Given the description of an element on the screen output the (x, y) to click on. 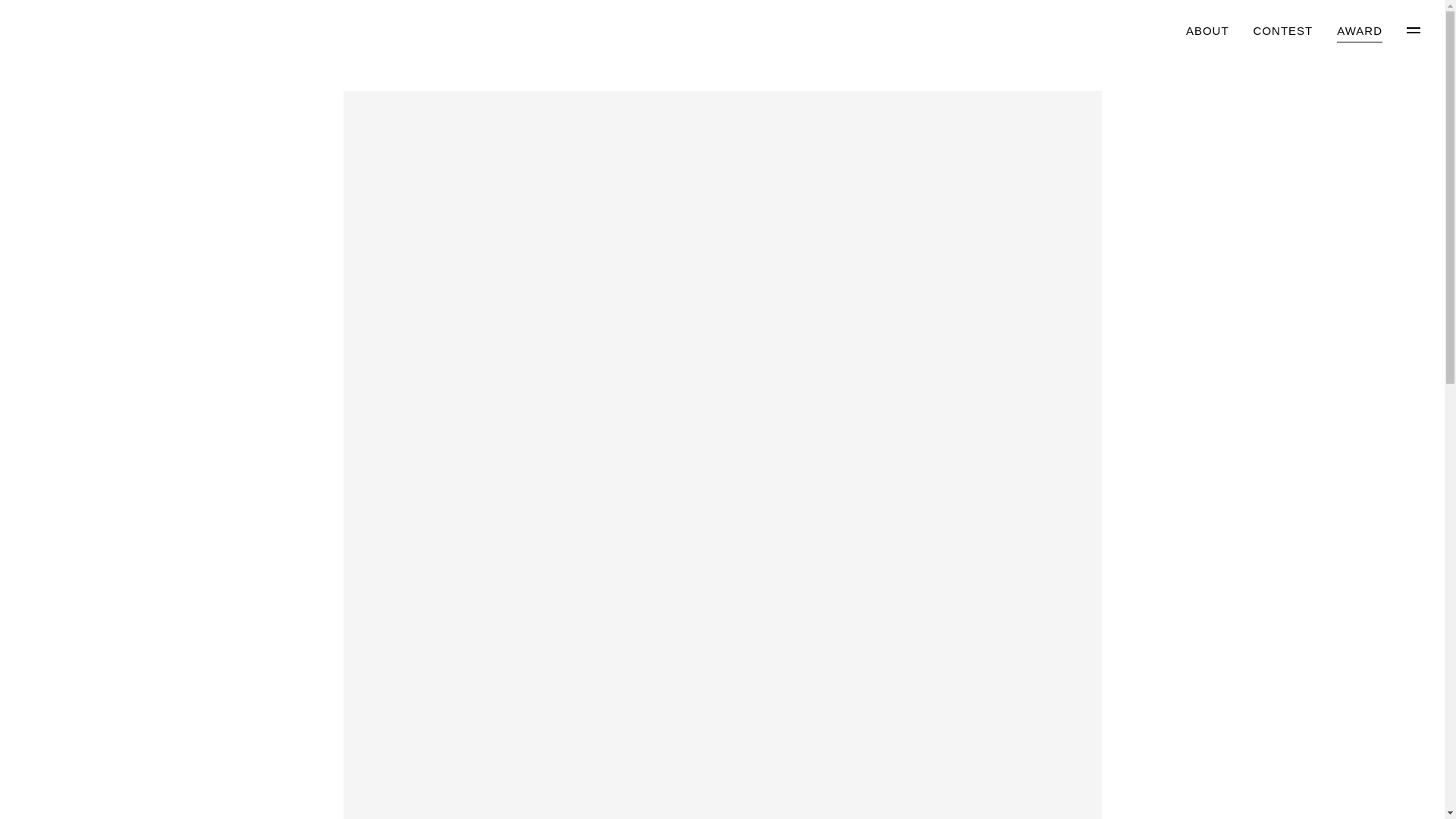
ABOUT (1207, 32)
AWARD (1358, 32)
CONTEST (1283, 32)
